Given the description of an element on the screen output the (x, y) to click on. 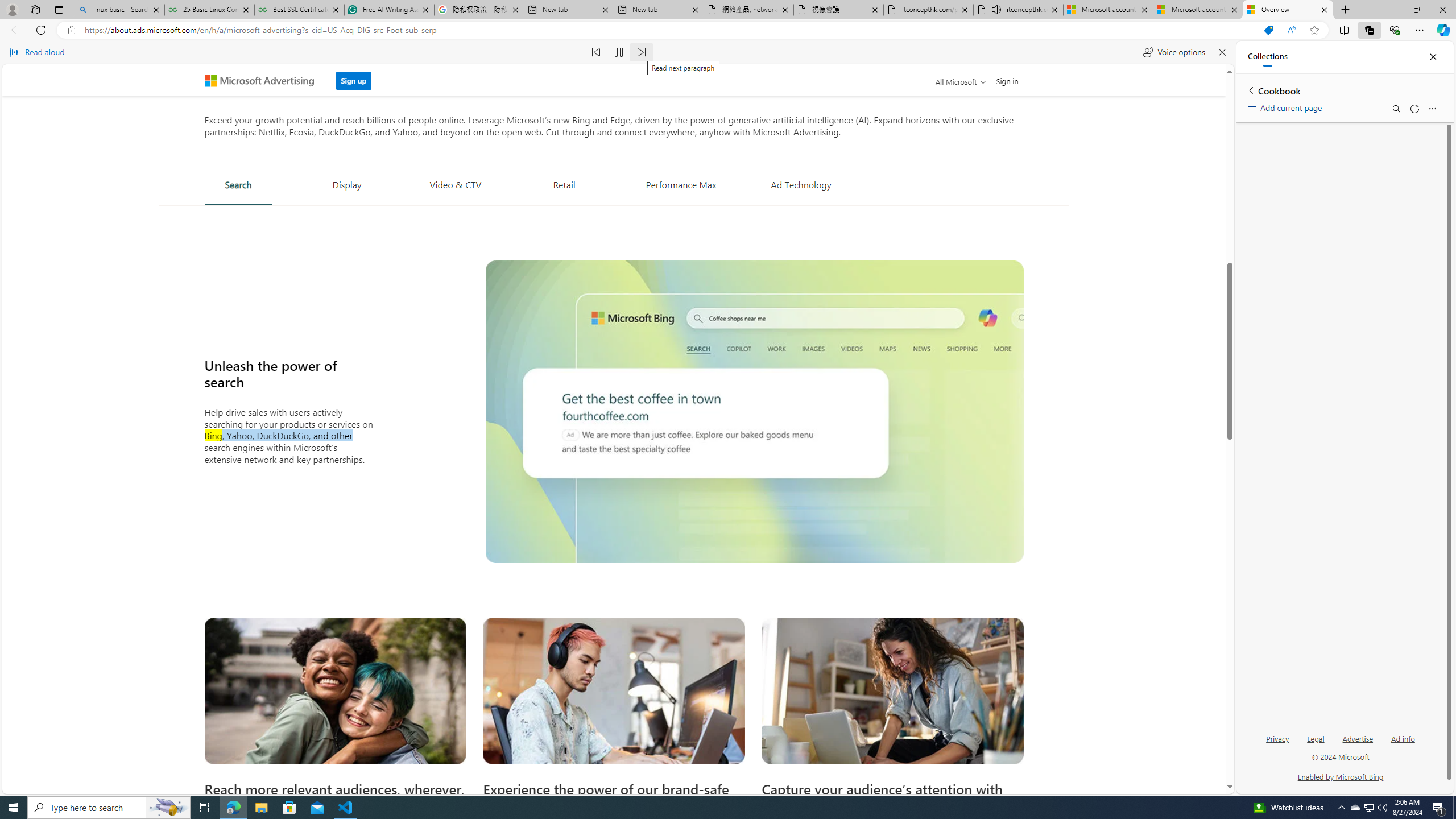
Display (347, 183)
Back to list of collections (1250, 90)
itconcepthk.com/projector_solutions.mp4 (928, 9)
Microsoft Advertising (263, 79)
Pause read aloud (Ctrl+Shift+U) (618, 52)
Add current page (1286, 105)
Retail (563, 183)
